Given the description of an element on the screen output the (x, y) to click on. 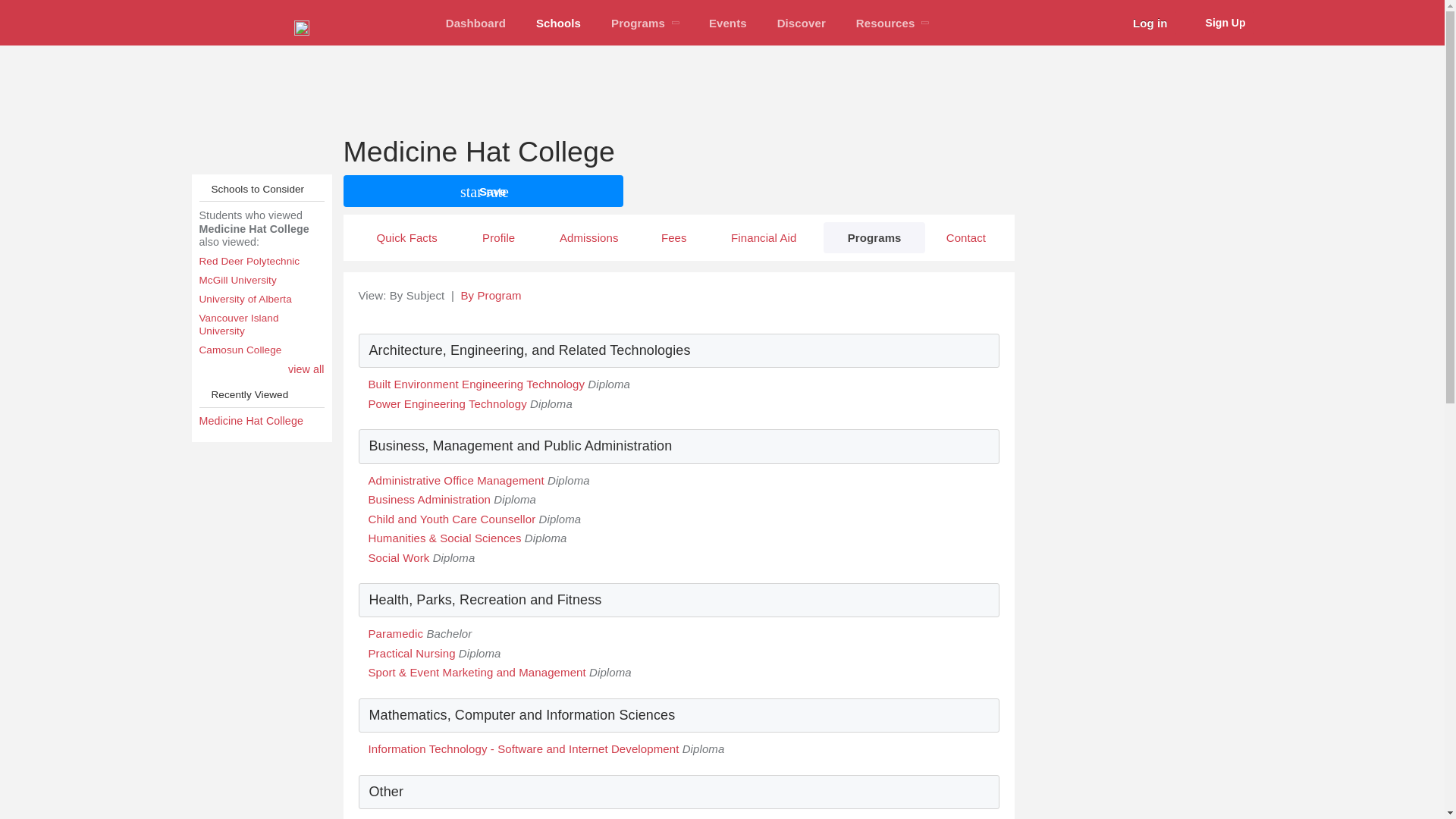
By Program (490, 295)
Admissions (588, 237)
Camosun College (260, 350)
Built Environment Engineering Technology (476, 383)
Schools (558, 22)
Events (727, 22)
Programs (644, 22)
Programs (874, 237)
University of Alberta (260, 299)
Schools (558, 22)
